Given the description of an element on the screen output the (x, y) to click on. 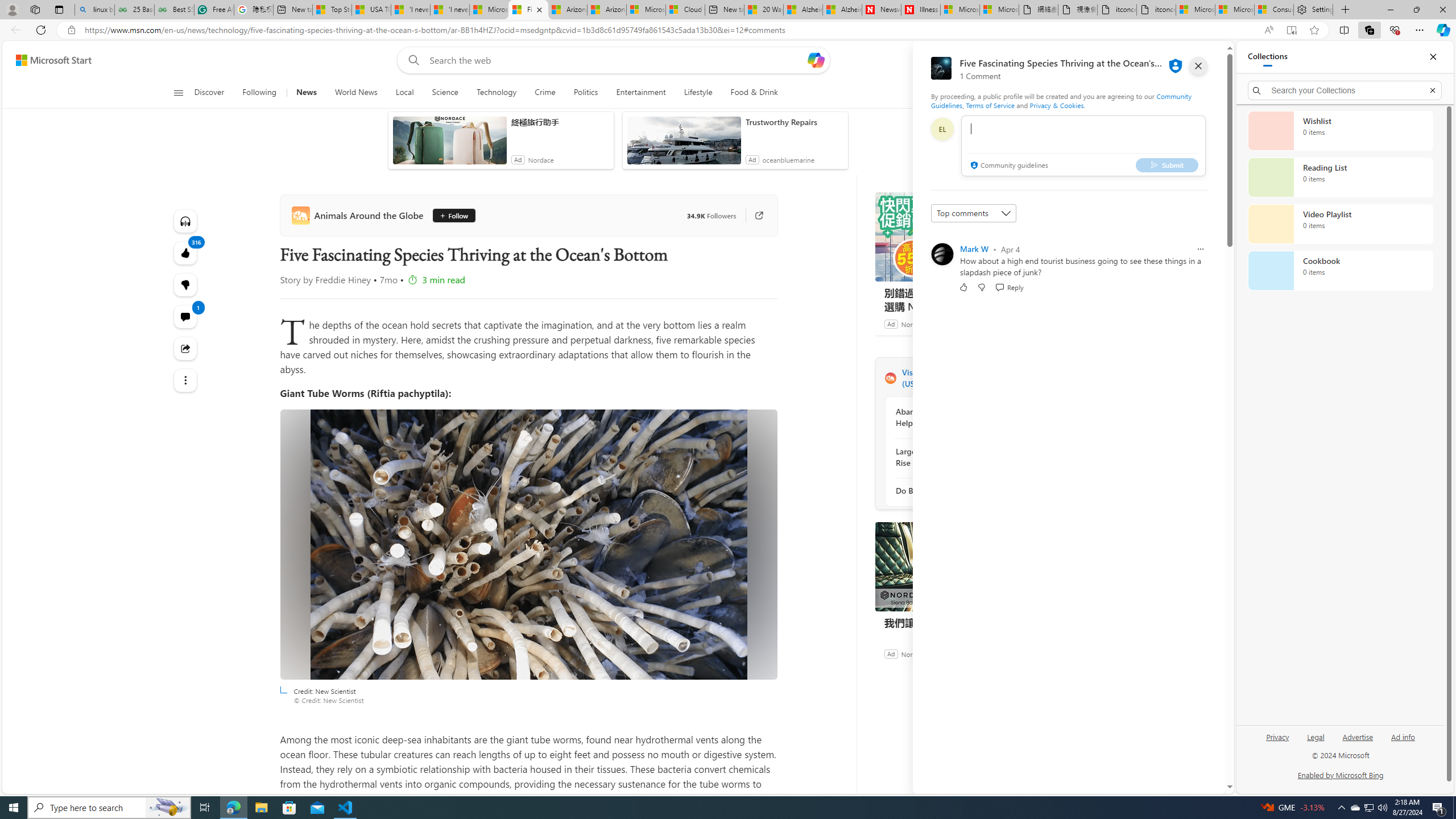
Exit search (1432, 90)
Community Guidelines (1060, 100)
Sort comments by (973, 212)
itconcepthk.com/projector_solutions.mp4 (1155, 9)
Credit: New Scientist (528, 544)
